Given the description of an element on the screen output the (x, y) to click on. 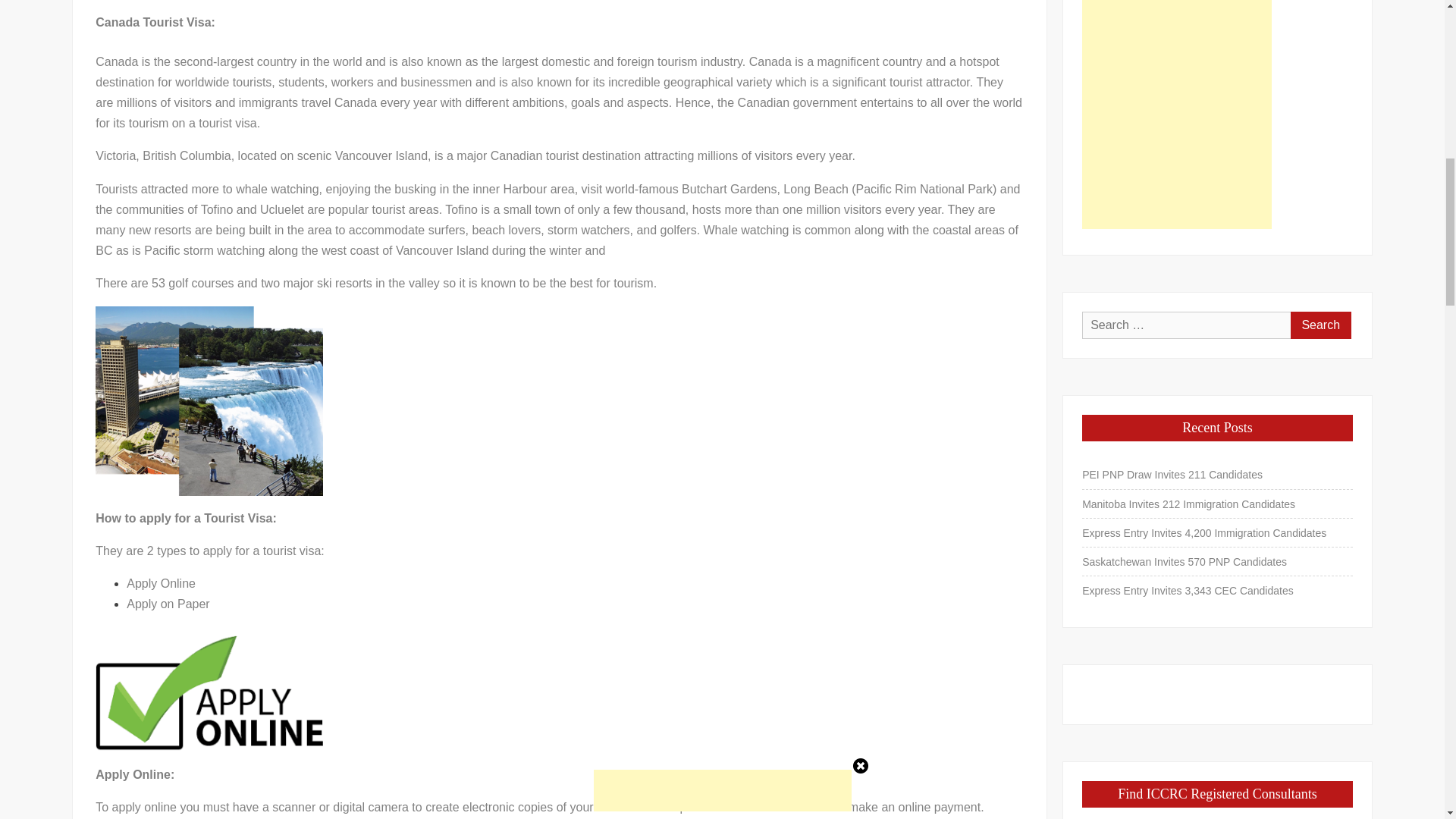
Search (1320, 325)
Search (1320, 325)
